Given the description of an element on the screen output the (x, y) to click on. 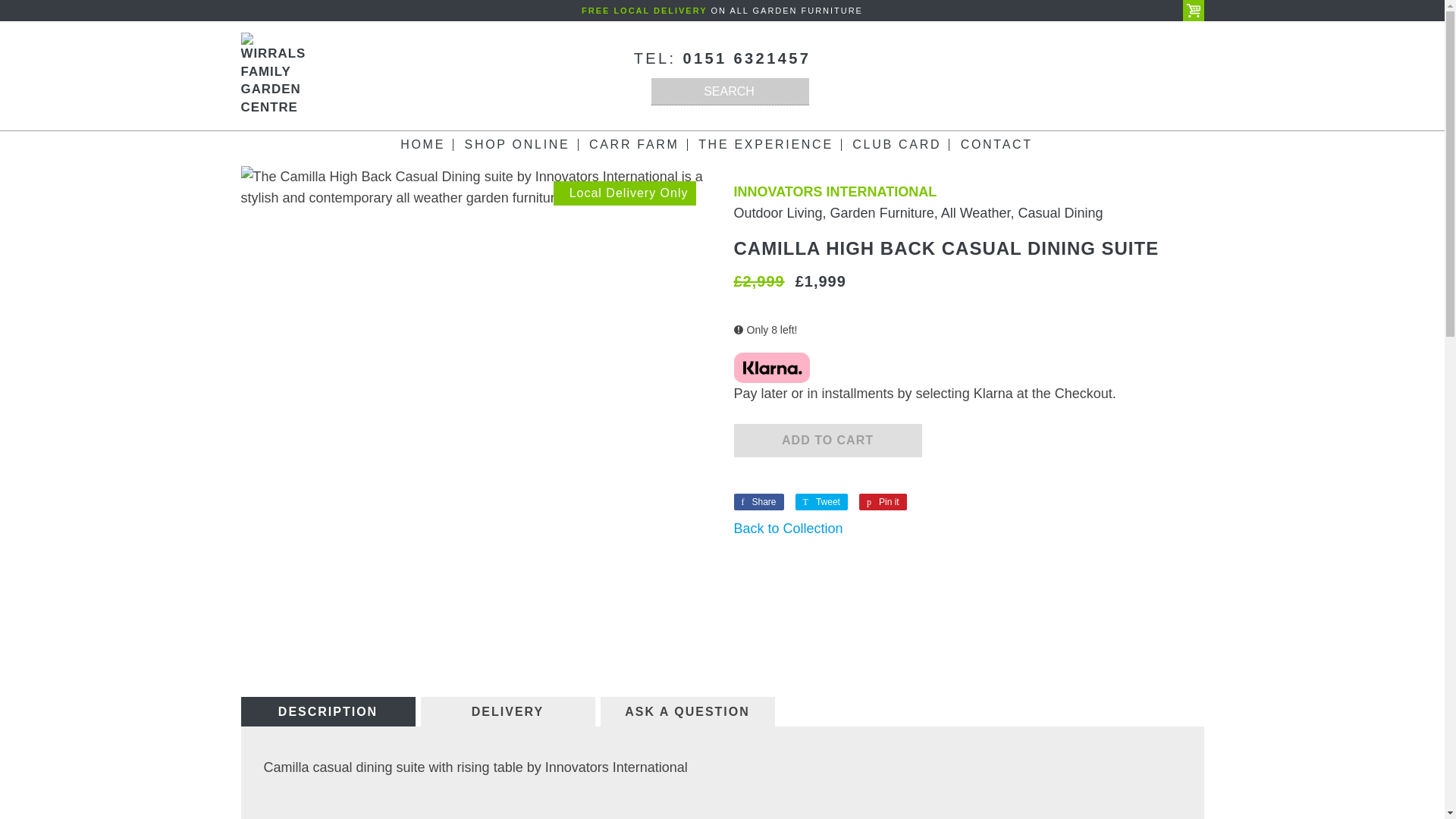
Share on Facebook (758, 501)
HOME (422, 144)
CARR FARM (633, 144)
Tweet on Twitter (820, 501)
SHOP ONLINE (517, 144)
Pin on Pinterest (883, 501)
